Given the description of an element on the screen output the (x, y) to click on. 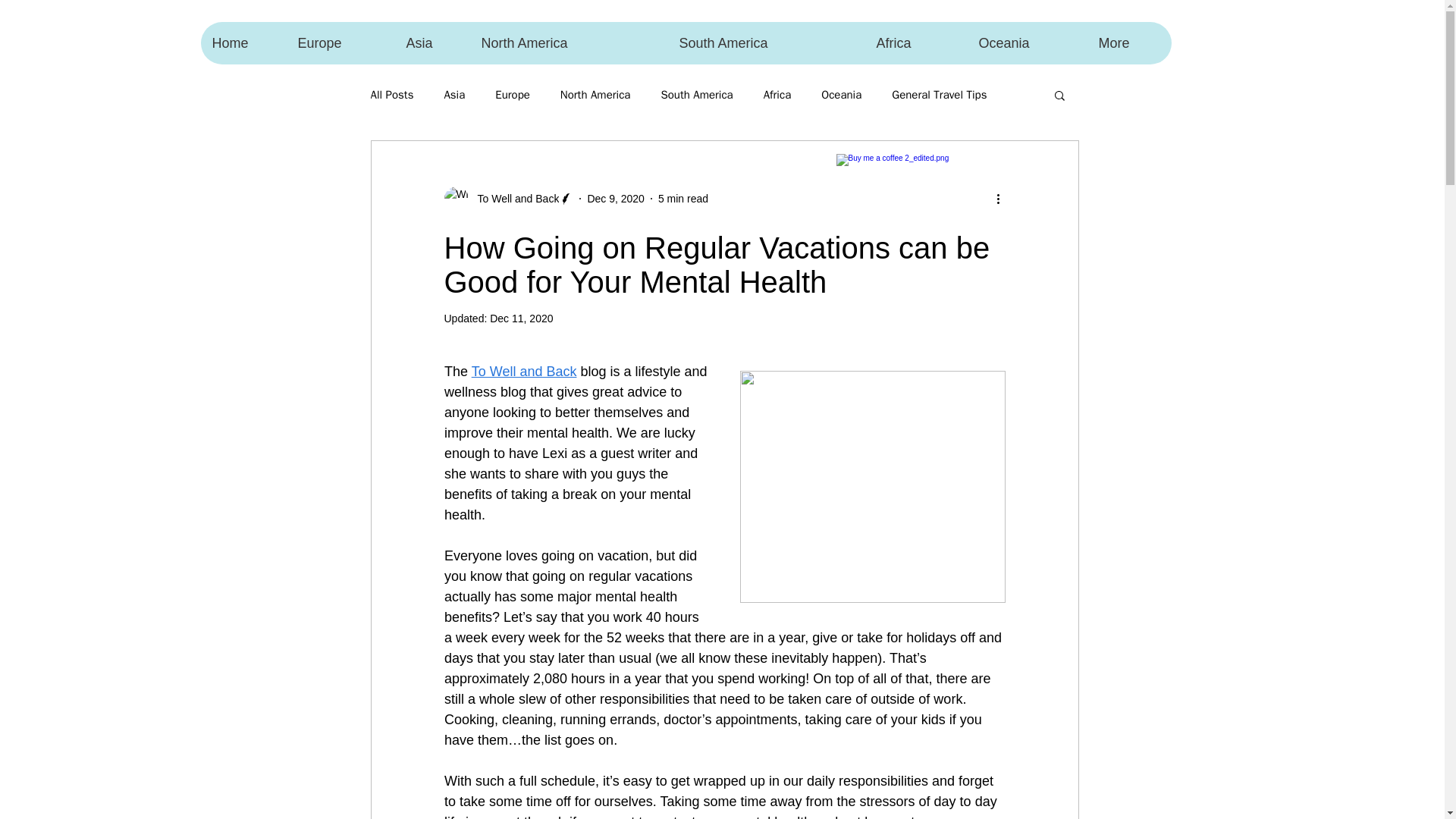
Dec 9, 2020 (615, 198)
North America (595, 94)
North America (567, 43)
To Well and Back (523, 371)
Oceania (841, 94)
South America (765, 43)
To Well and Back (513, 198)
Europe (339, 43)
Africa (777, 94)
Asia (454, 94)
